Given the description of an element on the screen output the (x, y) to click on. 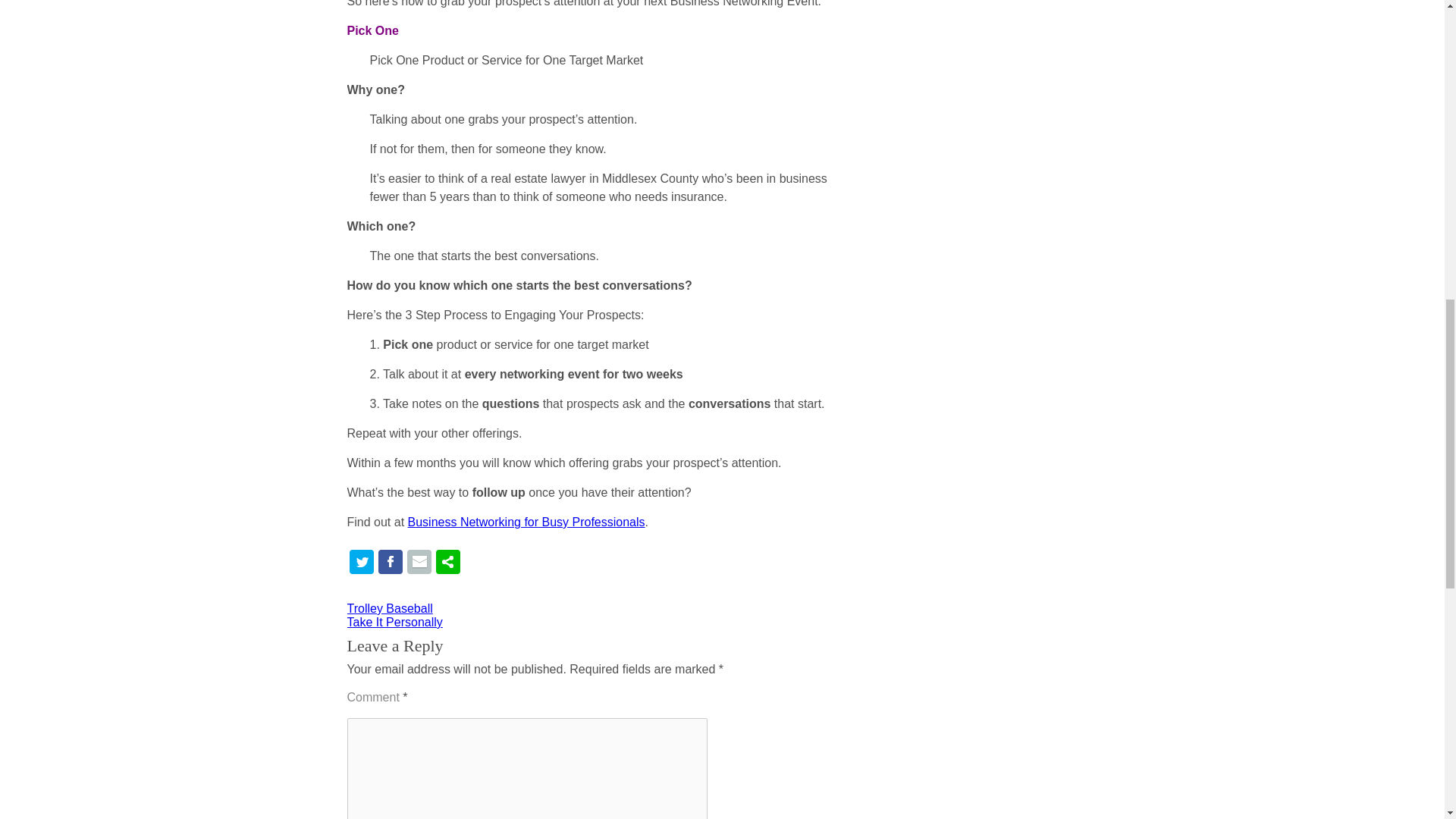
Business Networking for Busy Professionals (526, 521)
Networking on a Tight Schedule? (526, 521)
Trolley Baseball (389, 608)
Take It Personally (394, 621)
